Given the description of an element on the screen output the (x, y) to click on. 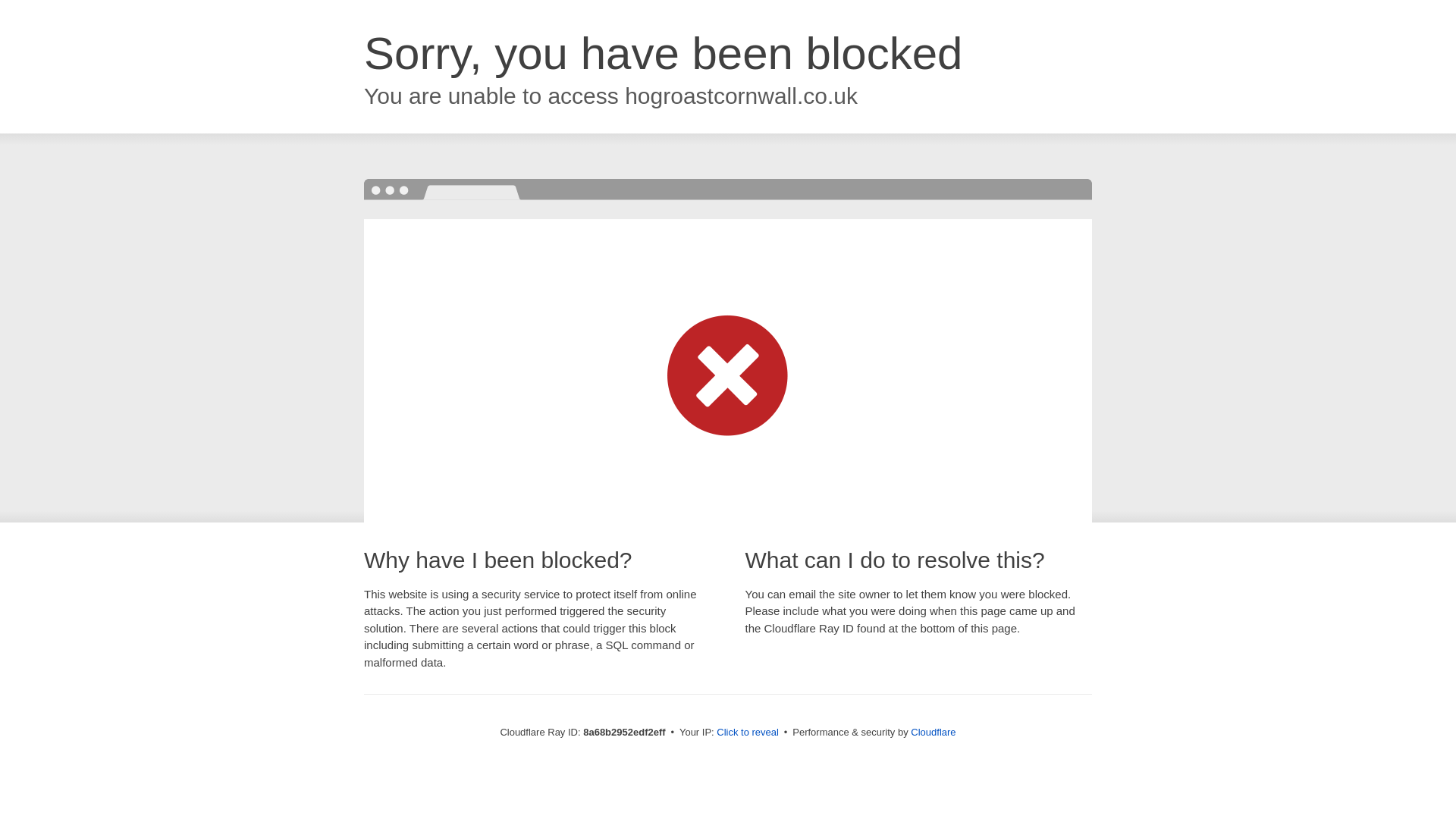
Cloudflare (933, 731)
Click to reveal (747, 732)
